Given the description of an element on the screen output the (x, y) to click on. 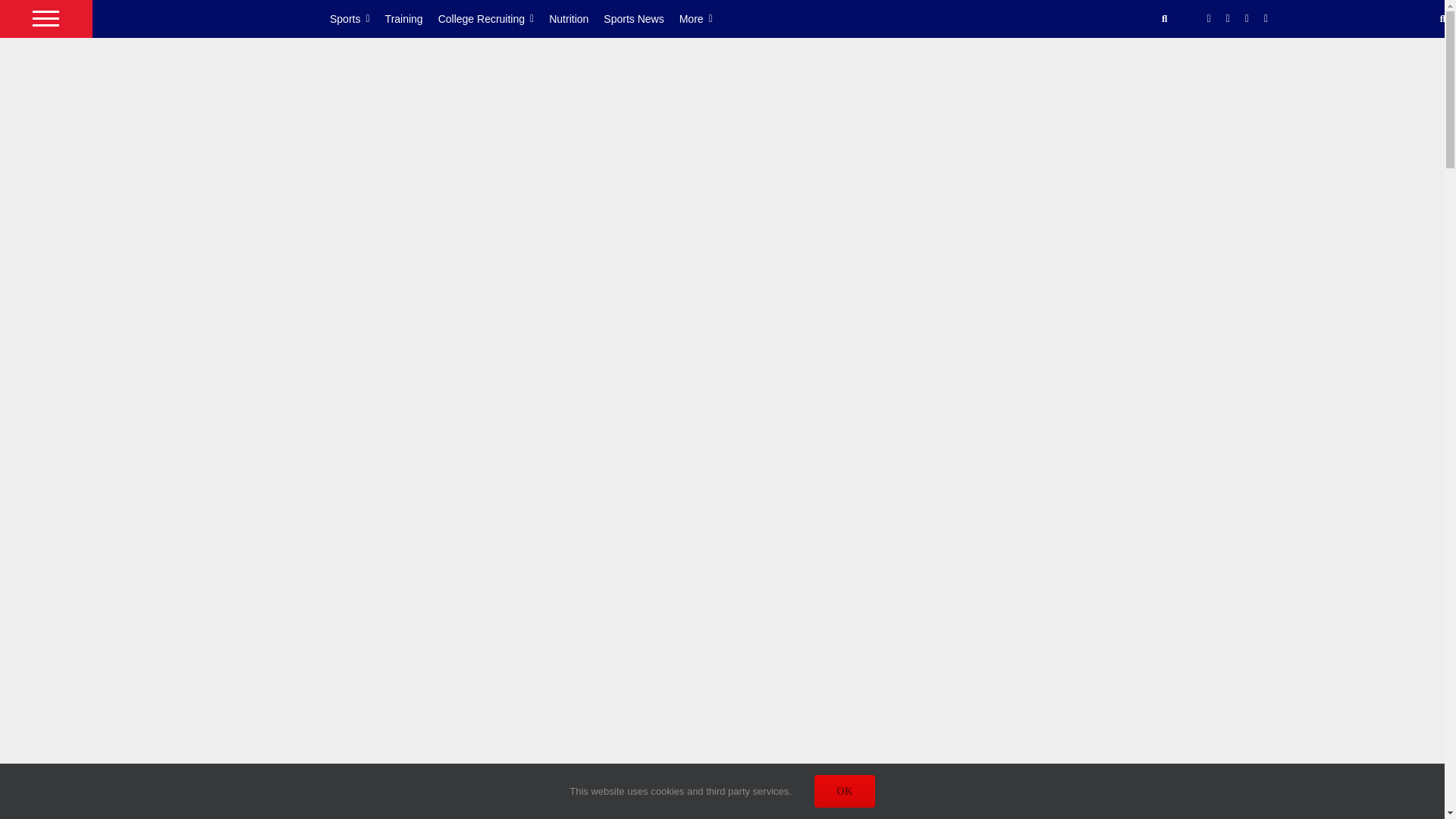
More (703, 18)
Training (411, 18)
College Recruiting (494, 18)
Sports (357, 18)
Nutrition (576, 18)
Sports News (641, 18)
